Given the description of an element on the screen output the (x, y) to click on. 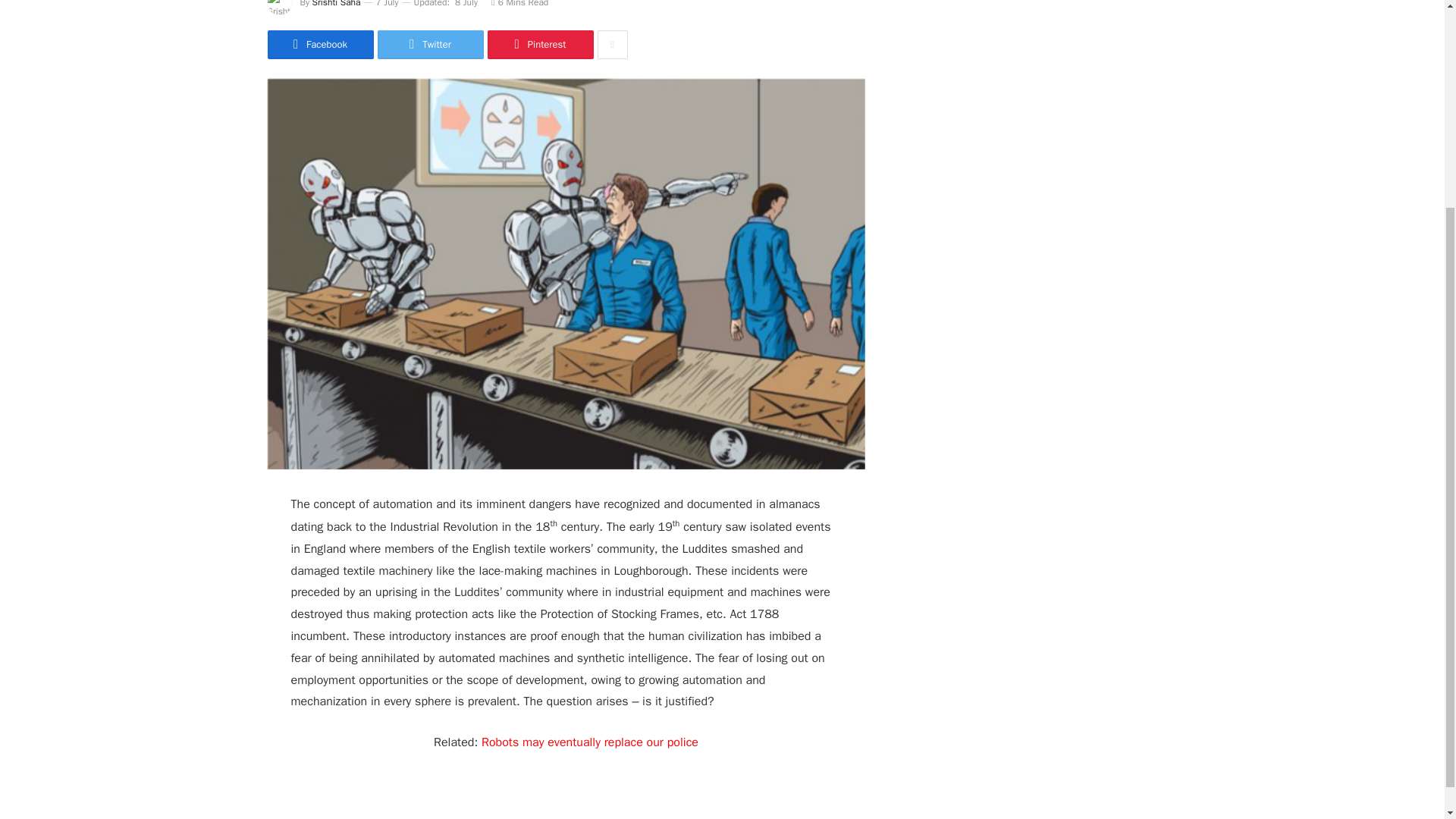
Share on Pinterest (539, 44)
Posts by Srishti Saha (337, 4)
Share on Facebook (319, 44)
